Given the description of an element on the screen output the (x, y) to click on. 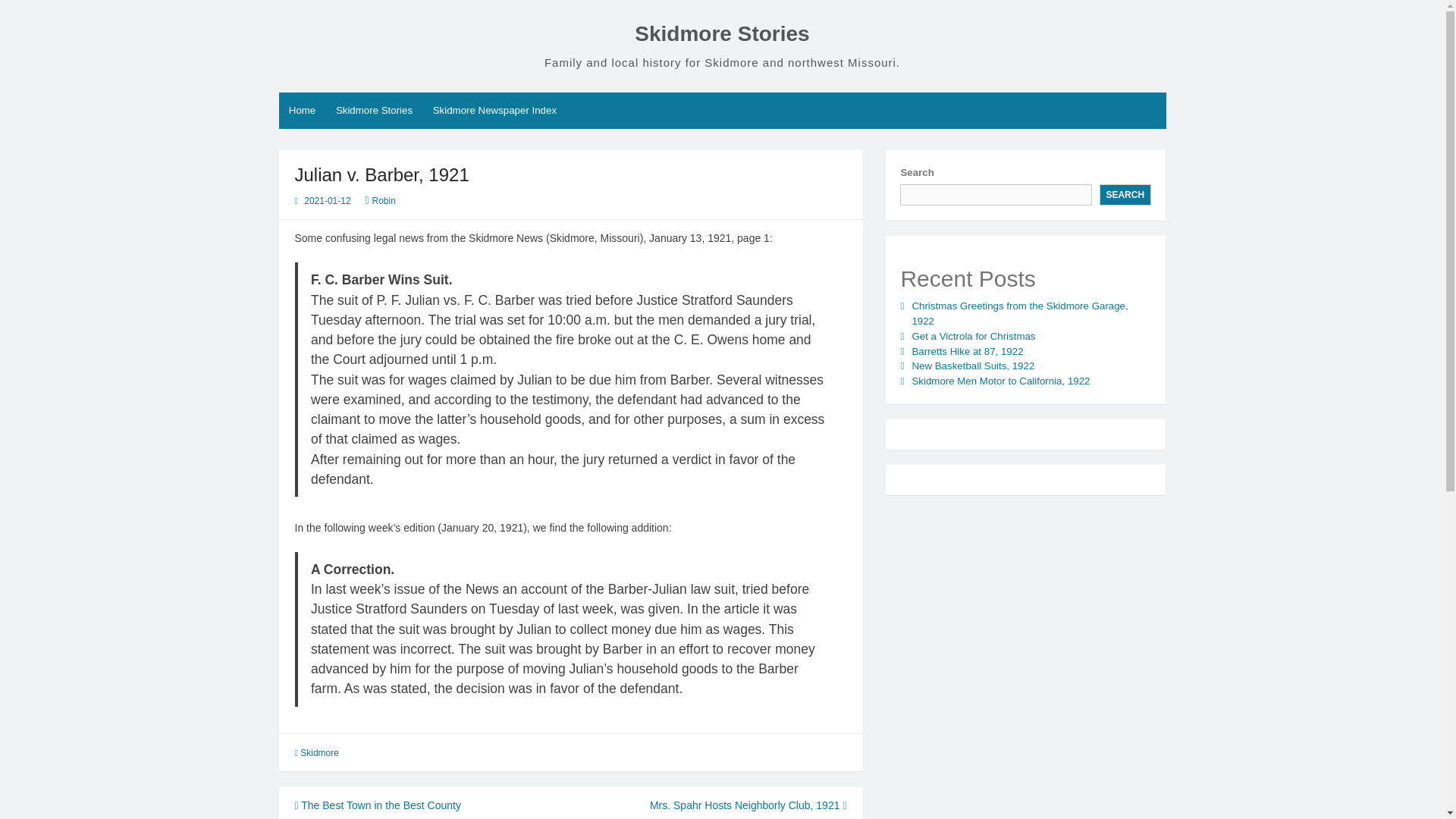
New Basketball Suits, 1922 (972, 365)
Mrs. Spahr Hosts Neighborly Club, 1921 (748, 805)
2021-01-12 (327, 200)
Skidmore Stories (721, 33)
Home (302, 110)
Skidmore Newspaper Index (494, 110)
Barretts Hike at 87, 1922 (967, 351)
Christmas Greetings from the Skidmore Garage, 1922 (1018, 313)
Skidmore Men Motor to California, 1922 (1000, 380)
Skidmore Stories (374, 110)
Skidmore (319, 752)
SEARCH (1125, 194)
The Best Town in the Best County (377, 805)
Get a Victrola for Christmas (973, 336)
Robin (384, 200)
